Given the description of an element on the screen output the (x, y) to click on. 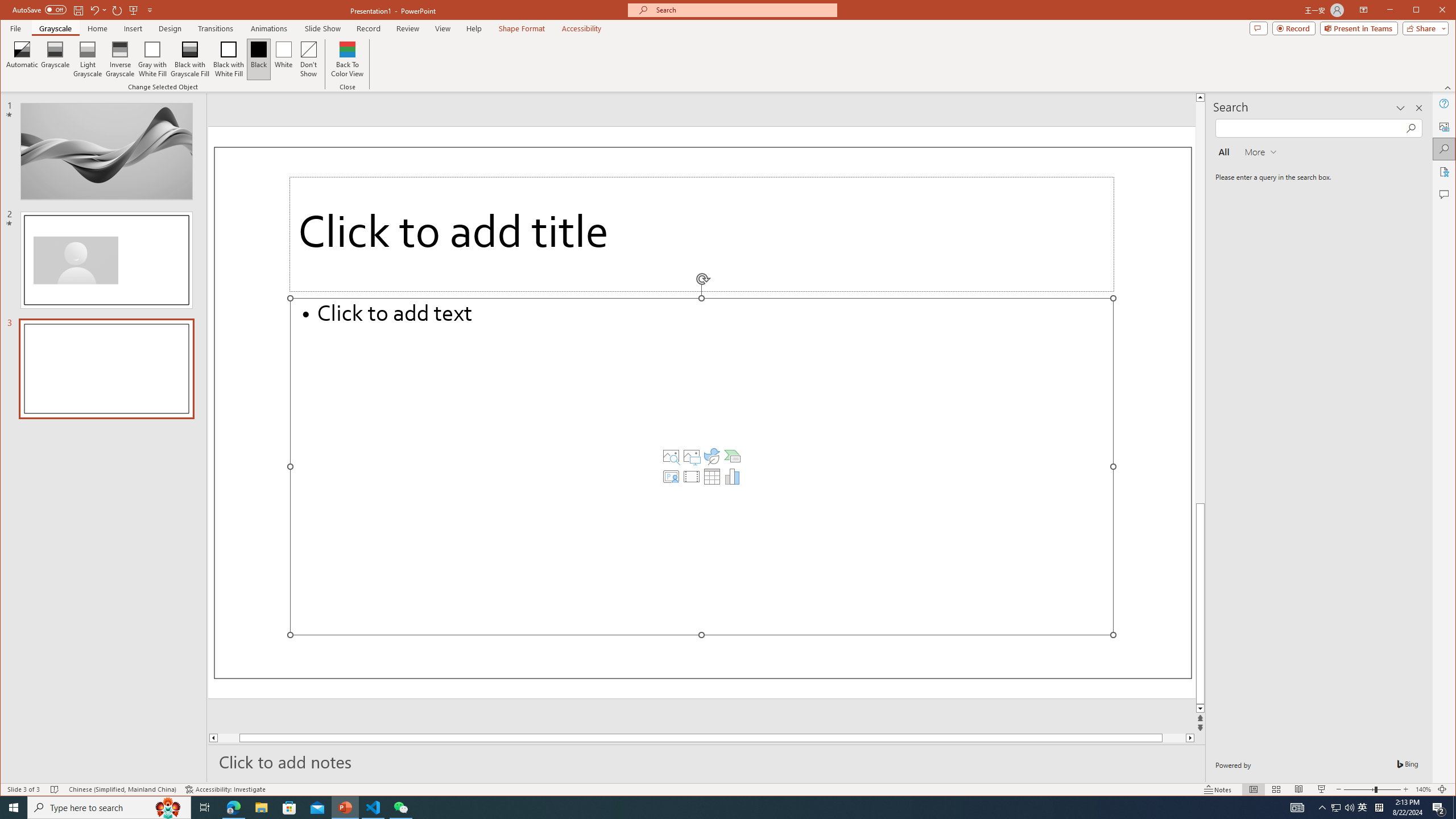
Insert a SmartArt Graphic (732, 456)
Zoom 140% (1422, 789)
Black with White Fill (229, 59)
Light Grayscale (87, 59)
